Given the description of an element on the screen output the (x, y) to click on. 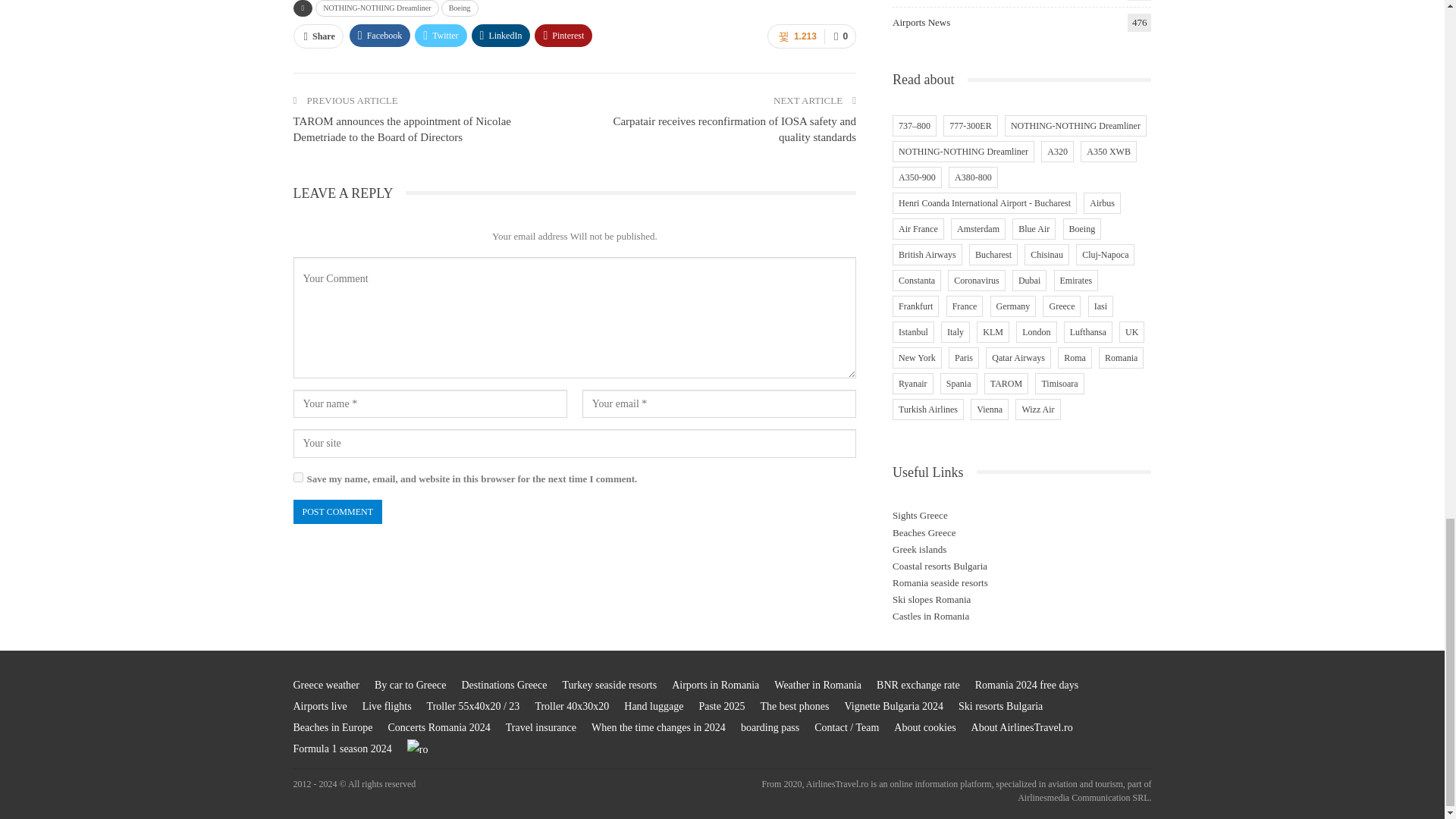
airports in romania (714, 685)
Boeing (460, 8)
yes (297, 477)
Twitter (439, 35)
0 (840, 36)
Facebook (379, 35)
NOTHING-NOTHING Dreamliner (376, 8)
Post Comment (336, 511)
